Given the description of an element on the screen output the (x, y) to click on. 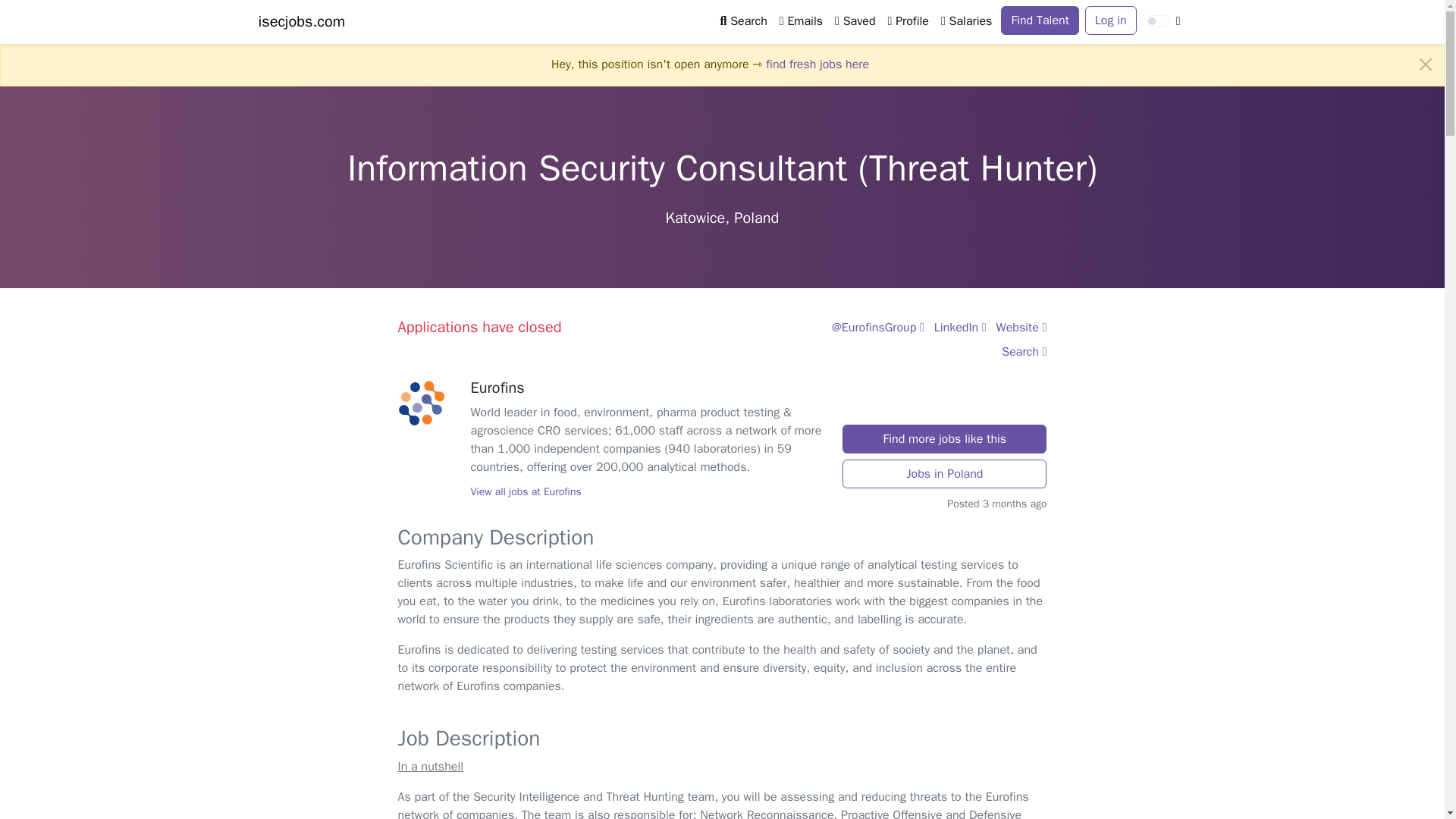
Log in (1110, 20)
View all jobs at Eurofins (525, 491)
Search (1023, 351)
Find more jobs like this (944, 439)
Salaries (966, 20)
on (1157, 21)
Jobs in Poland (944, 473)
Saved (854, 20)
find fresh jobs here (817, 64)
LinkedIn (960, 327)
Website (1020, 327)
Emails (800, 20)
Find Talent (1039, 20)
isecjobs.com (301, 21)
Search (743, 20)
